Given the description of an element on the screen output the (x, y) to click on. 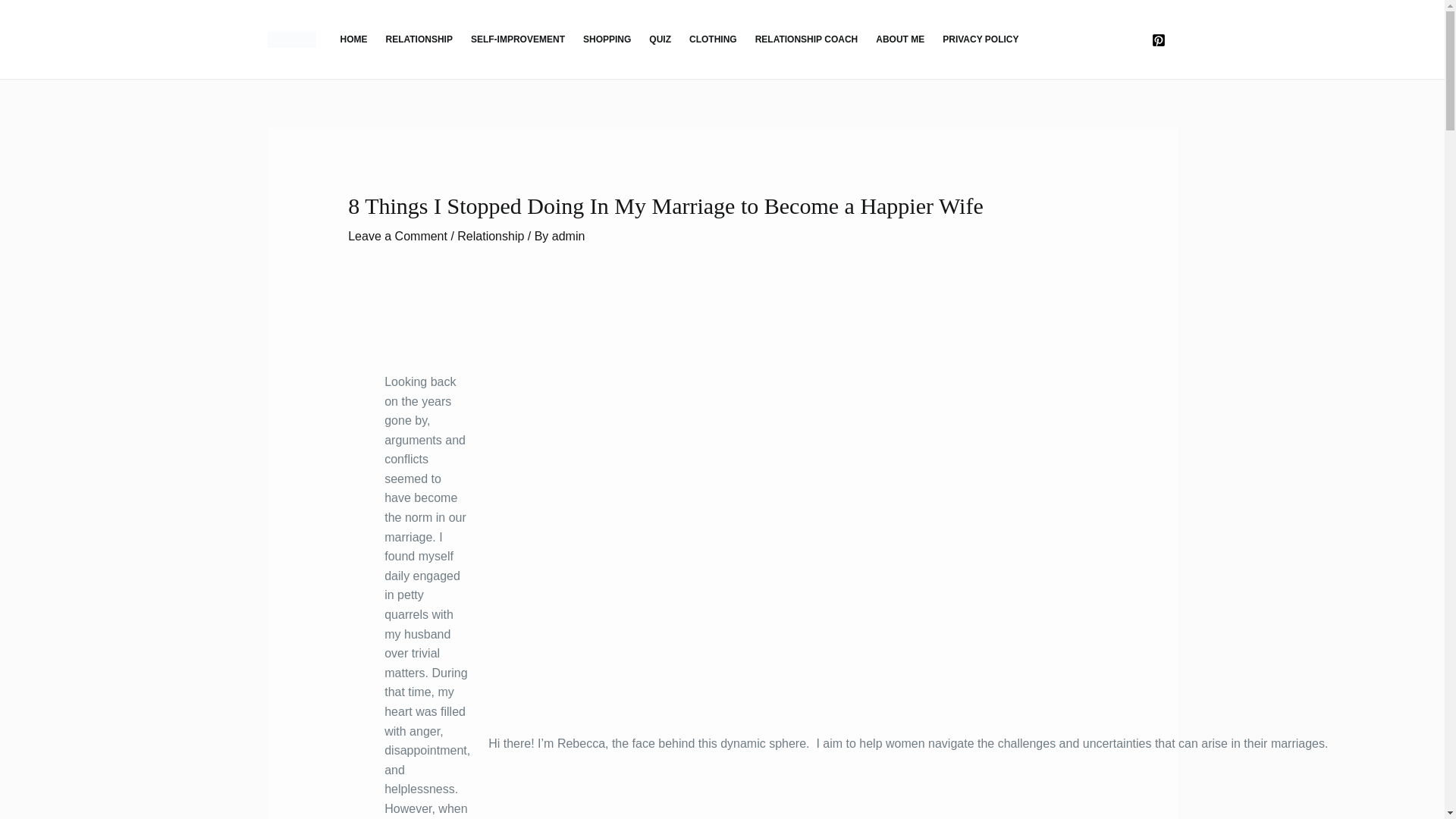
View all posts by admin (568, 236)
Relationship (490, 236)
PRIVACY POLICY (980, 39)
admin (568, 236)
RELATIONSHIP COACH (806, 39)
Leave a Comment (396, 236)
RELATIONSHIP (418, 39)
SELF-IMPROVEMENT (517, 39)
